Given the description of an element on the screen output the (x, y) to click on. 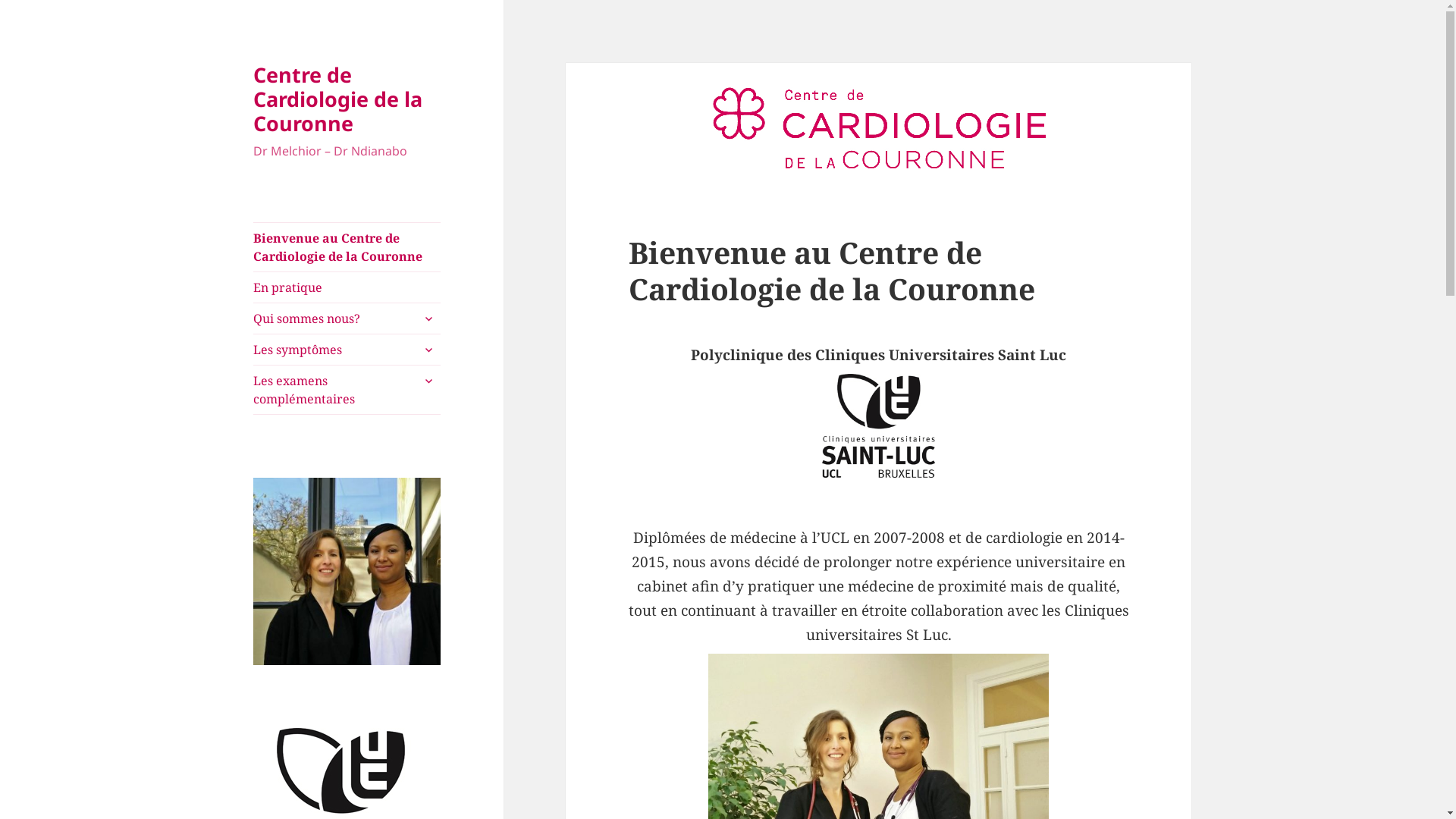
Bienvenue au Centre de Cardiologie de la Couronne Element type: text (347, 246)
ouvrir le sous-menu Element type: text (428, 318)
ouvrir le sous-menu Element type: text (428, 349)
En pratique Element type: text (347, 287)
ouvrir le sous-menu Element type: text (428, 380)
Centre de Cardiologie de la Couronne Element type: text (337, 98)
Qui sommes nous? Element type: text (347, 318)
